Given the description of an element on the screen output the (x, y) to click on. 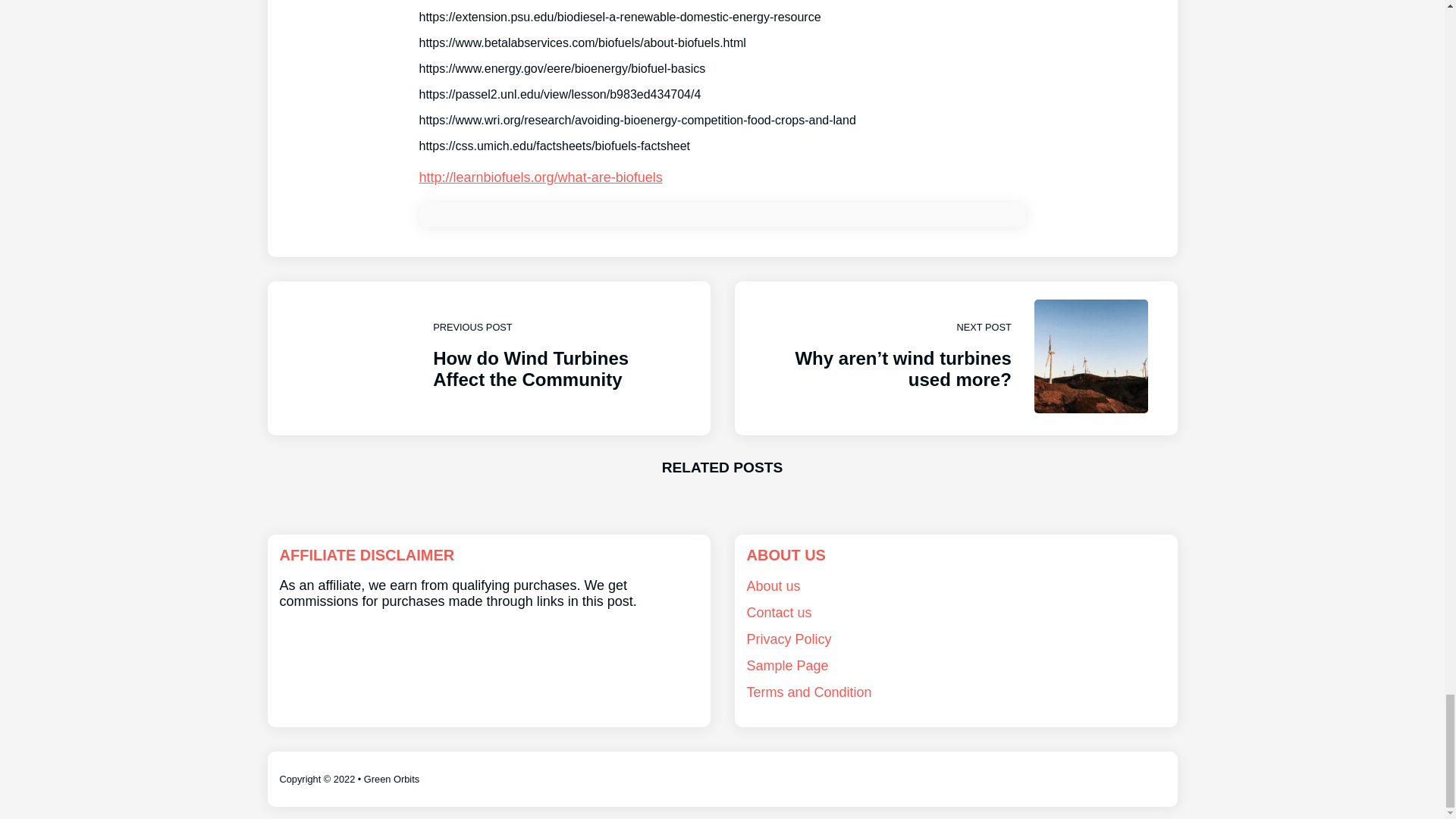
Privacy Policy (788, 639)
Terms and Condition (807, 692)
About us (772, 585)
Sample Page (786, 665)
Contact us (488, 358)
